Given the description of an element on the screen output the (x, y) to click on. 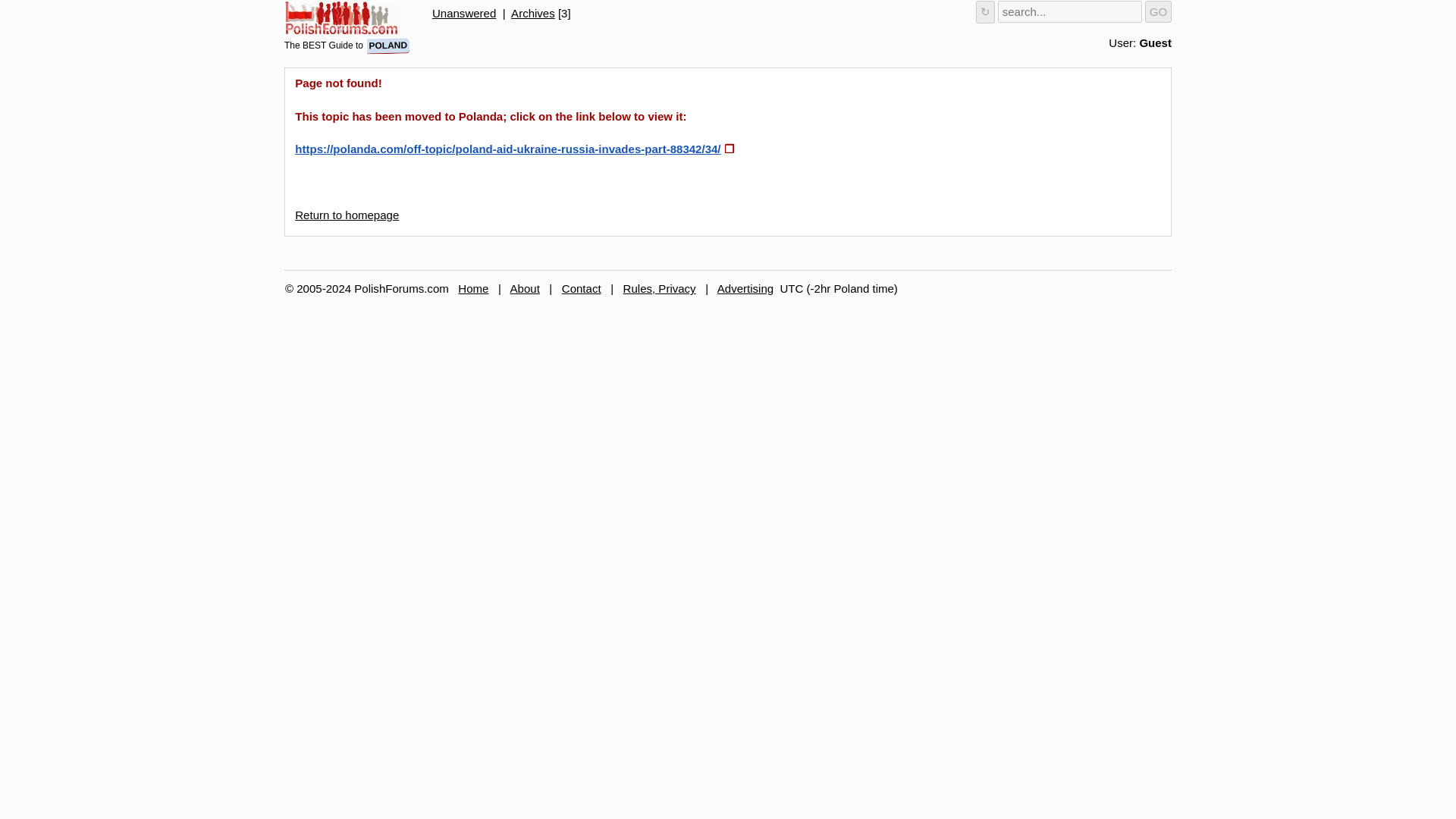
Rules, Privacy (659, 287)
Archives (532, 12)
Home (472, 287)
PolishForums.com (340, 18)
Return to homepage (346, 214)
Advertising (745, 287)
About (525, 287)
Unanswered (464, 12)
Contact (581, 287)
